Given the description of an element on the screen output the (x, y) to click on. 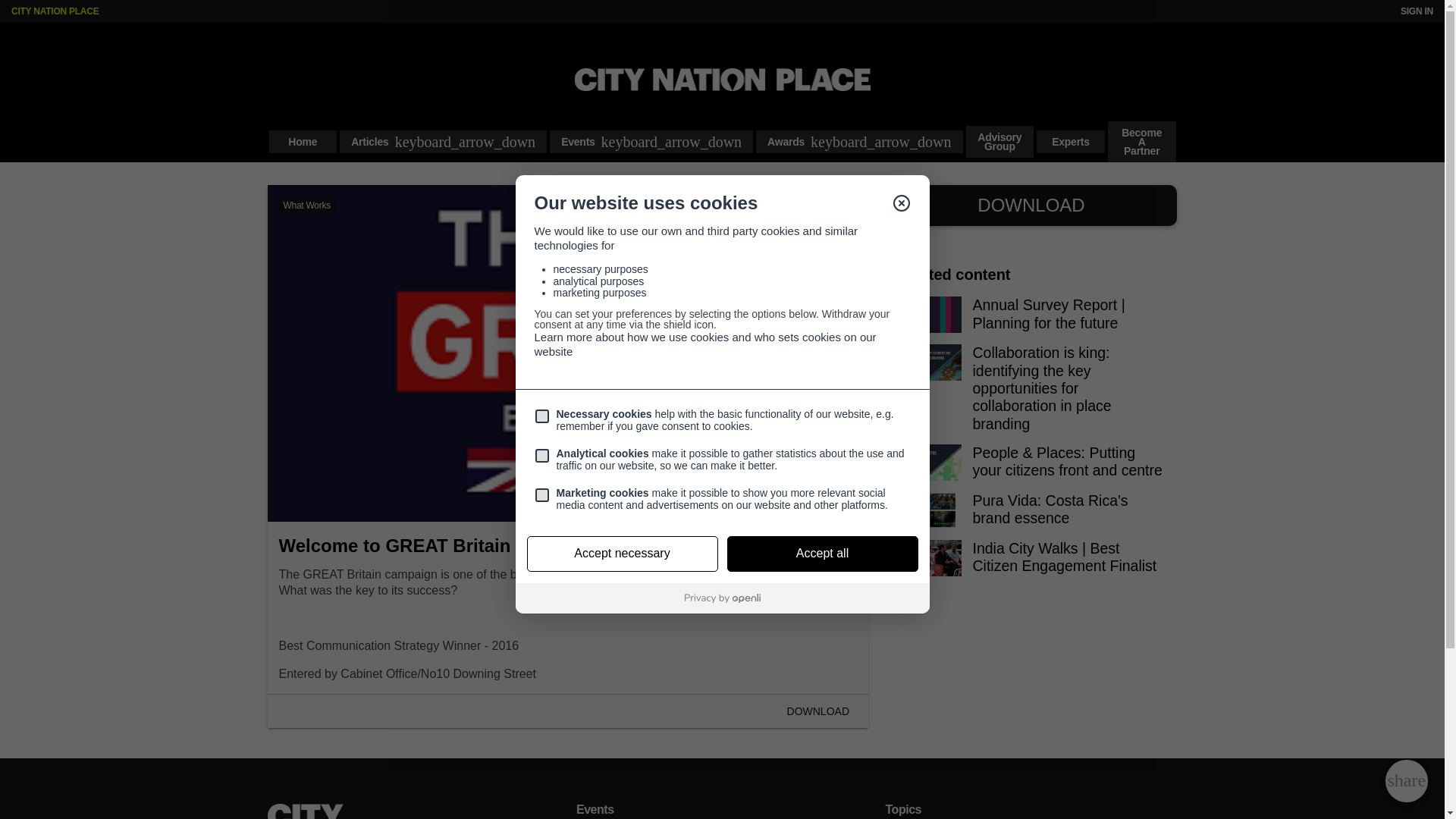
Become A Partner (1142, 141)
Pura Vida: Costa Rica's brand essence (1031, 515)
Experts (1070, 141)
Privacy by Openli (722, 598)
Advisory Group (999, 142)
Home (301, 141)
SIGN IN (1416, 10)
